Given the description of an element on the screen output the (x, y) to click on. 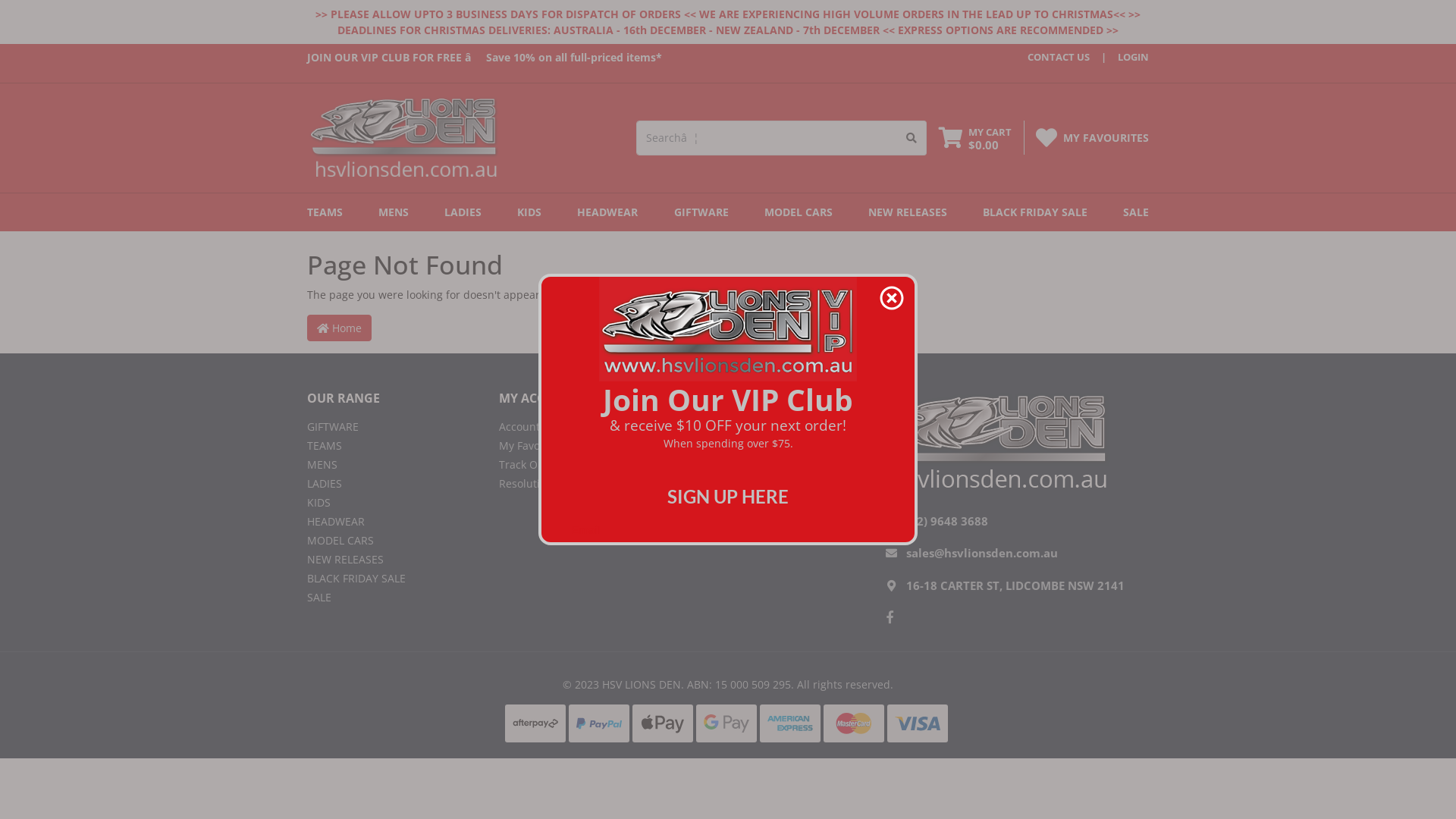
LOGIN Element type: text (1118, 57)
TEAMS Element type: text (327, 212)
MODEL CARS Element type: text (391, 539)
GIFTWARE Element type: text (391, 426)
Security Policy Element type: text (775, 501)
SALE Element type: text (1132, 212)
JOIN OUR VIP CLUB FOR FREE Element type: text (384, 57)
NEW RELEASES Element type: text (391, 558)
SIGN UP HERE Element type: text (727, 496)
Contact Us Element type: text (775, 520)
My Favourites Element type: text (583, 445)
SALE Element type: text (391, 596)
(02) 9648 3688 Element type: text (947, 520)
LADIES Element type: text (462, 212)
HEADWEAR Element type: text (607, 212)
KIDS Element type: text (529, 212)
Returns Policy Element type: text (775, 445)
Home Element type: text (339, 327)
HSV LIONS DEN Element type: hover (403, 136)
BLACK FRIDAY SALE Element type: text (1034, 212)
MY FAVOURITES Element type: text (1105, 137)
Account Home Element type: text (583, 426)
BLACK FRIDAY SALE Element type: text (391, 577)
MY CART
$0.00 Element type: text (975, 138)
Facebook Element type: text (889, 616)
sales@hsvlionsden.com.au Element type: text (981, 552)
Privacy Policy Element type: text (775, 482)
NEW RELEASES Element type: text (907, 212)
TEAMS Element type: text (391, 445)
MENS Element type: text (393, 212)
KIDS Element type: text (391, 501)
LADIES Element type: text (391, 482)
Search Element type: text (911, 137)
Track Order Element type: text (583, 464)
GIFTWARE Element type: text (701, 212)
CONTACT US Element type: text (1058, 57)
Delivery & Pickup Element type: text (775, 426)
Terms of Use Element type: text (775, 464)
MODEL CARS Element type: text (798, 212)
MENS Element type: text (391, 464)
HEADWEAR Element type: text (391, 520)
Resolution Centre Element type: text (583, 482)
